Given the description of an element on the screen output the (x, y) to click on. 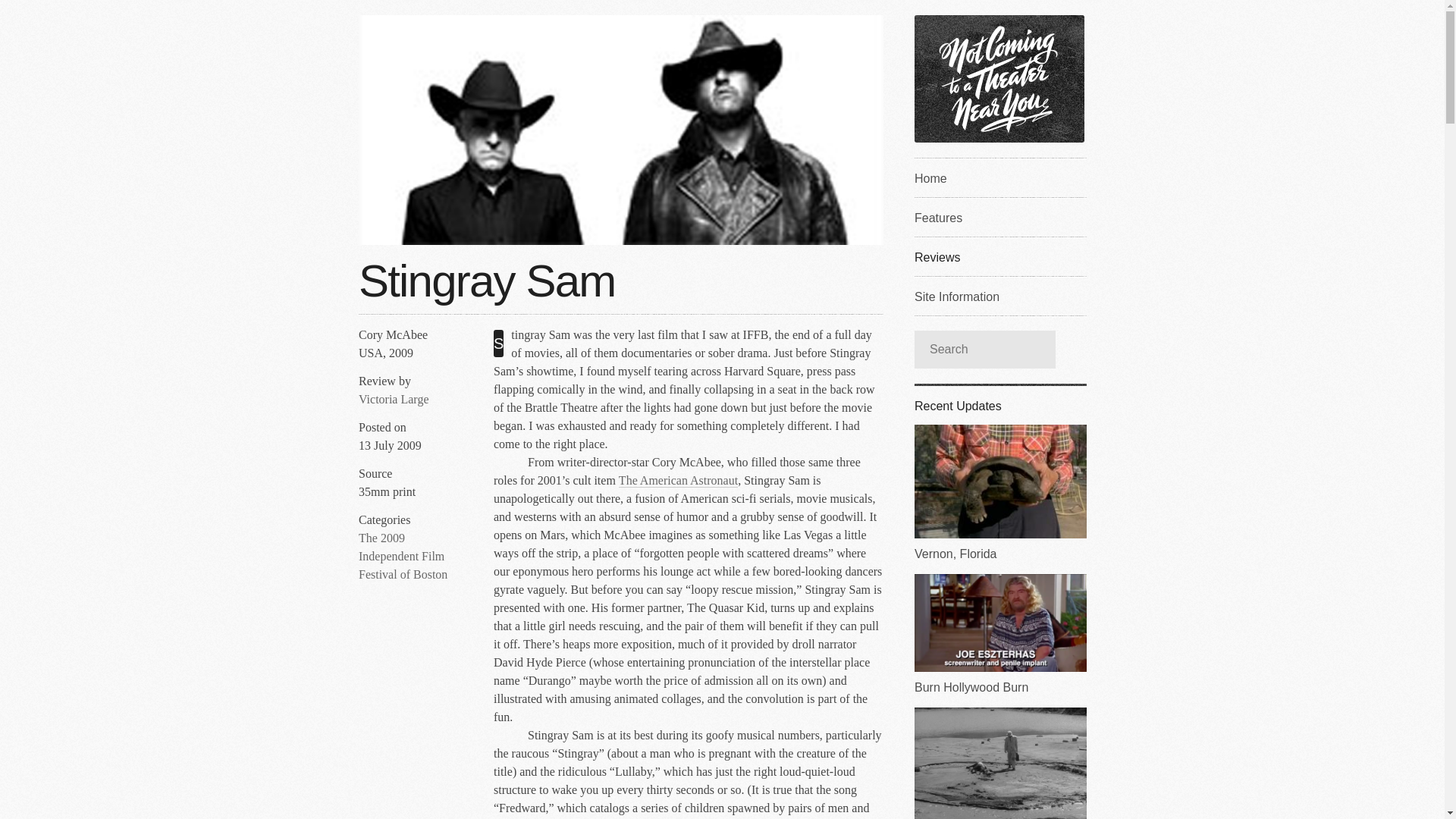
Victoria Large (393, 399)
Site Information (1000, 295)
Features (1000, 216)
Vernon, Florida (1000, 493)
Burn Hollywood Burn (1000, 634)
Site Index (1000, 177)
Reviews (1000, 256)
Site Information (1000, 295)
Pitfall (1000, 763)
The 2009 Independent Film Festival of Boston (402, 556)
